Given the description of an element on the screen output the (x, y) to click on. 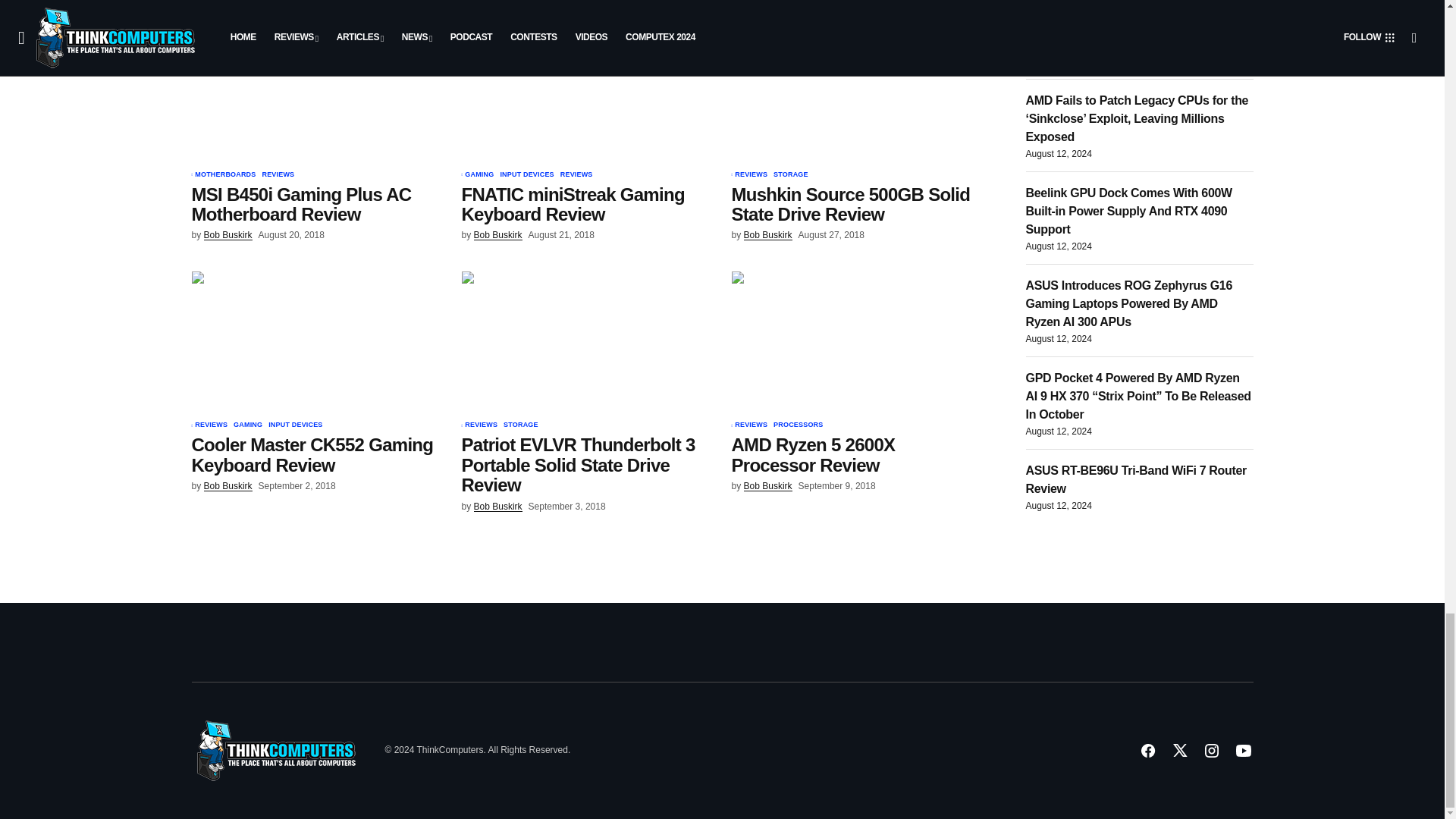
Cooler Master CK552 Gaming Keyboard Review (316, 342)
FNATIC miniStreak Gaming Keyboard Review (587, 91)
MSI B450i Gaming Plus AC Motherboard Review (316, 91)
AMD Ryzen 5 2600X Processor Review (856, 342)
Mushkin Source 500GB Solid State Drive Review (856, 91)
